Given the description of an element on the screen output the (x, y) to click on. 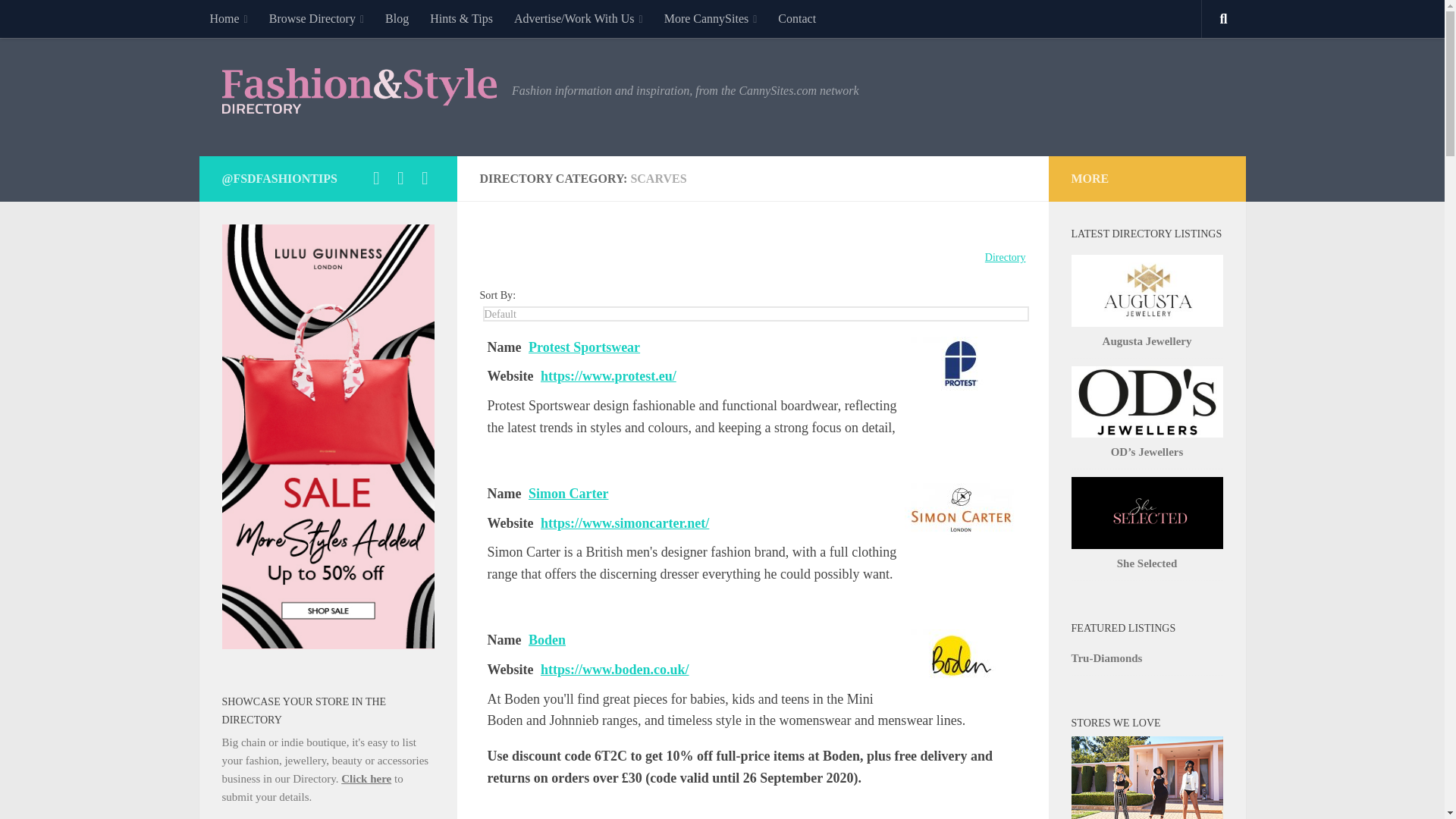
Boden (960, 656)
Protest Sportswear (960, 363)
Simon Carter (960, 510)
Skip to content (59, 20)
Home (227, 18)
